Given the description of an element on the screen output the (x, y) to click on. 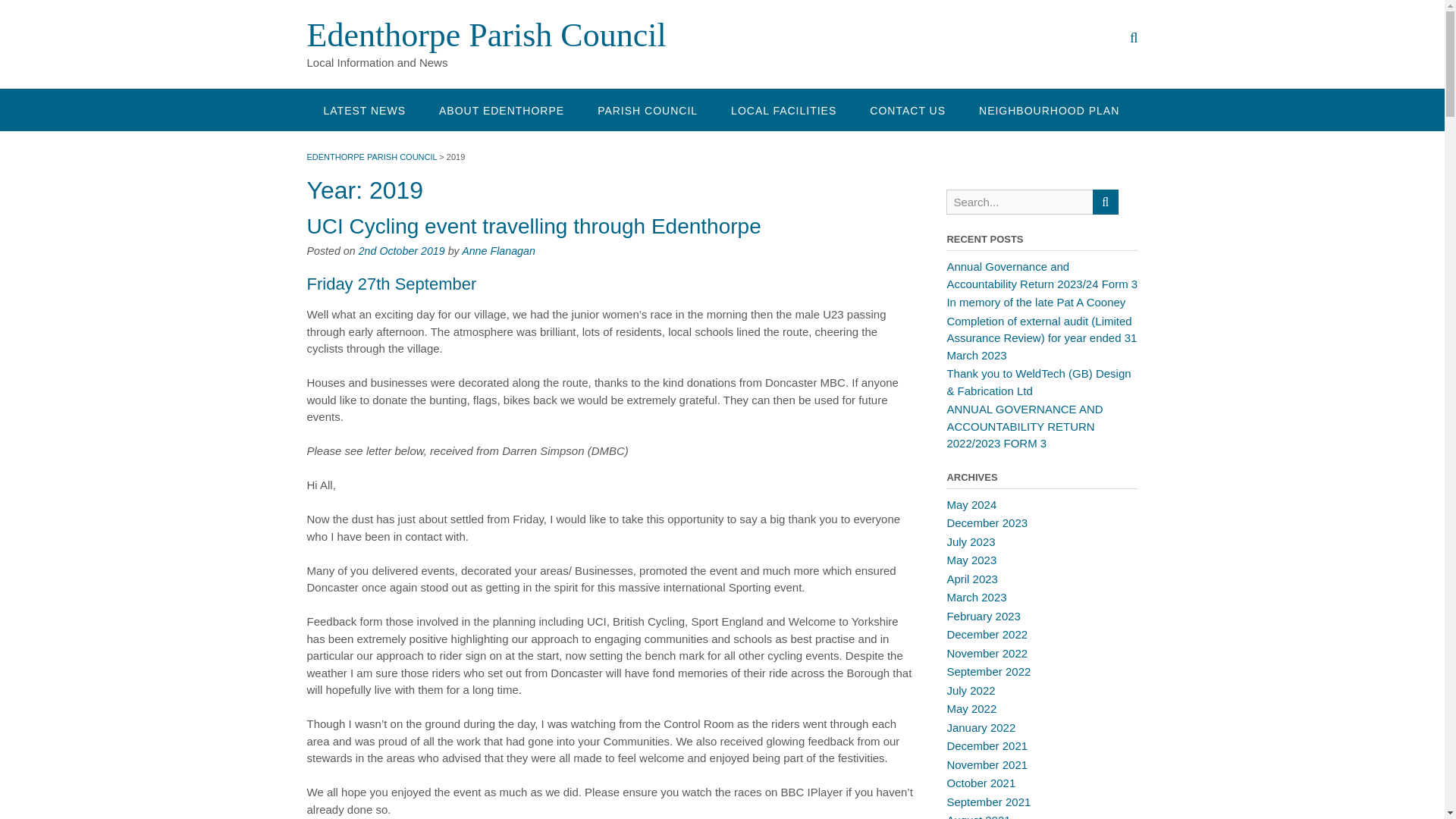
Edenthorpe Parish Council (485, 35)
Go to Edenthorpe Parish Council. (370, 156)
NEIGHBOURHOOD PLAN (1048, 109)
PARISH COUNCIL (647, 109)
EDENTHORPE PARISH COUNCIL (370, 156)
2nd October 2019 (401, 250)
UCI Cycling event travelling through Edenthorpe (532, 226)
LOCAL FACILITIES (783, 109)
ABOUT EDENTHORPE (501, 109)
Anne Flanagan (498, 250)
CONTACT US (907, 109)
Search for: (1019, 201)
LATEST NEWS (363, 109)
Edenthorpe Parish Council (485, 35)
